Given the description of an element on the screen output the (x, y) to click on. 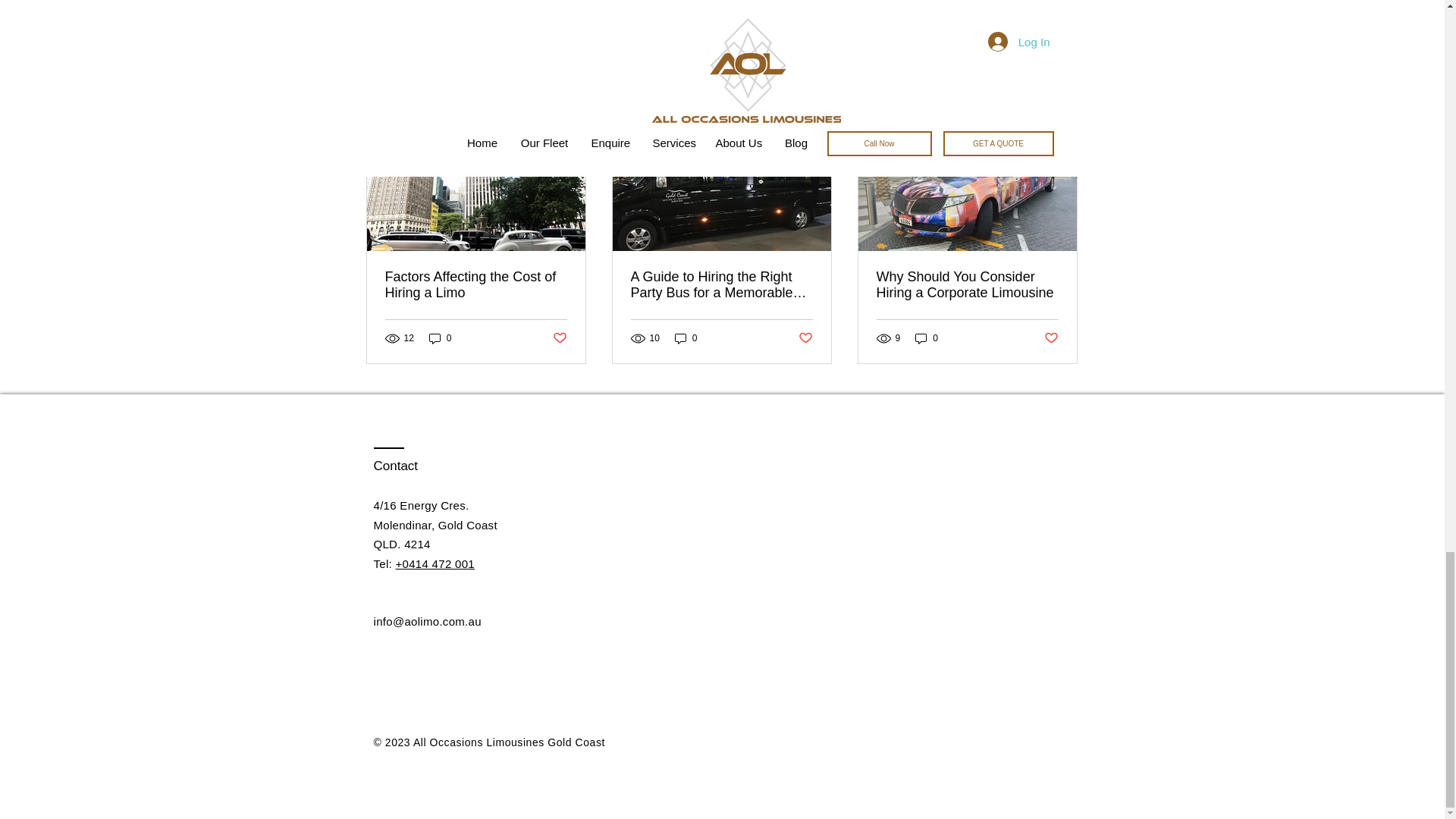
0 (440, 338)
Post not marked as liked (558, 338)
See All (1061, 101)
Factors Affecting the Cost of Hiring a Limo (476, 285)
Post not marked as liked (995, 18)
